Given the description of an element on the screen output the (x, y) to click on. 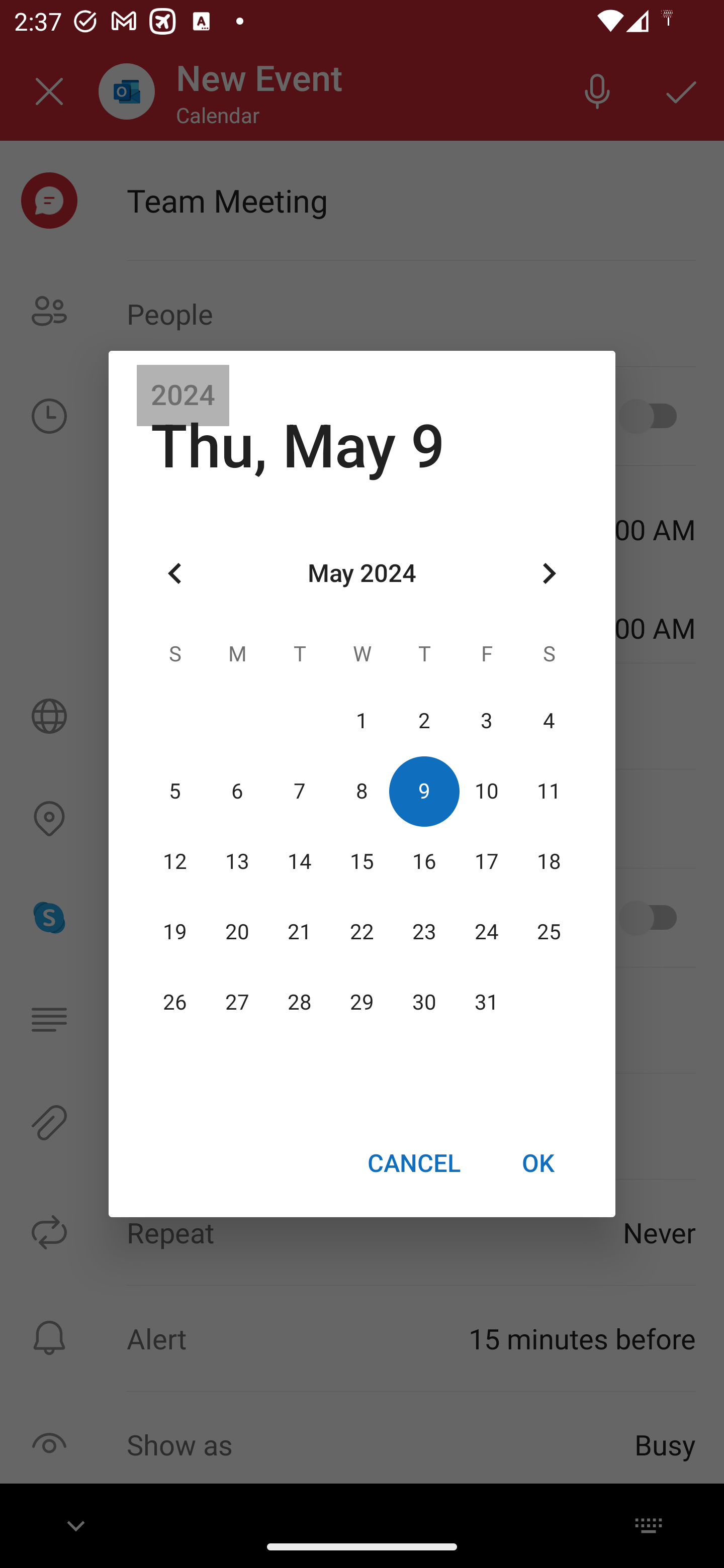
2024 (182, 395)
Thu, May 9 (297, 446)
Previous month (174, 573)
Next month (548, 573)
1 01 May 2024 (361, 720)
2 02 May 2024 (424, 720)
3 03 May 2024 (486, 720)
4 04 May 2024 (548, 720)
5 05 May 2024 (175, 790)
6 06 May 2024 (237, 790)
7 07 May 2024 (299, 790)
8 08 May 2024 (361, 790)
9 09 May 2024 (424, 790)
10 10 May 2024 (486, 790)
11 11 May 2024 (548, 790)
12 12 May 2024 (175, 861)
13 13 May 2024 (237, 861)
14 14 May 2024 (299, 861)
15 15 May 2024 (361, 861)
16 16 May 2024 (424, 861)
17 17 May 2024 (486, 861)
18 18 May 2024 (548, 861)
19 19 May 2024 (175, 931)
20 20 May 2024 (237, 931)
21 21 May 2024 (299, 931)
22 22 May 2024 (361, 931)
23 23 May 2024 (424, 931)
24 24 May 2024 (486, 931)
25 25 May 2024 (548, 931)
26 26 May 2024 (175, 1002)
27 27 May 2024 (237, 1002)
28 28 May 2024 (299, 1002)
29 29 May 2024 (361, 1002)
30 30 May 2024 (424, 1002)
31 31 May 2024 (486, 1002)
CANCEL (413, 1162)
OK (537, 1162)
